Given the description of an element on the screen output the (x, y) to click on. 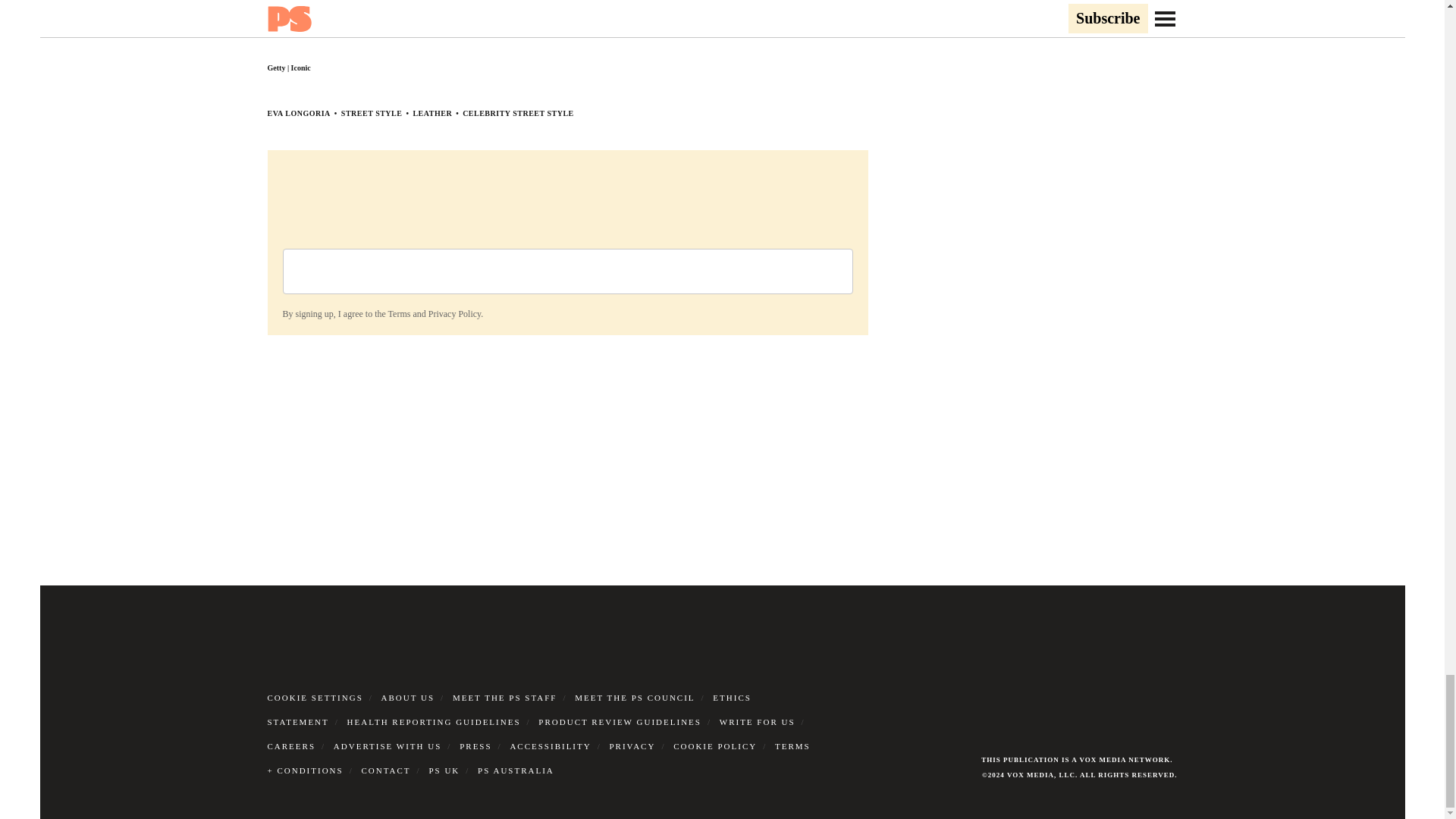
Terms (399, 313)
MEET THE PS STAFF (504, 697)
STREET STYLE (371, 112)
PRODUCT REVIEW GUIDELINES (619, 721)
WRITE FOR US (756, 721)
LEATHER (431, 112)
ABOUT US (408, 697)
CAREERS (290, 746)
HEALTH REPORTING GUIDELINES (434, 721)
MEET THE PS COUNCIL (634, 697)
